Given the description of an element on the screen output the (x, y) to click on. 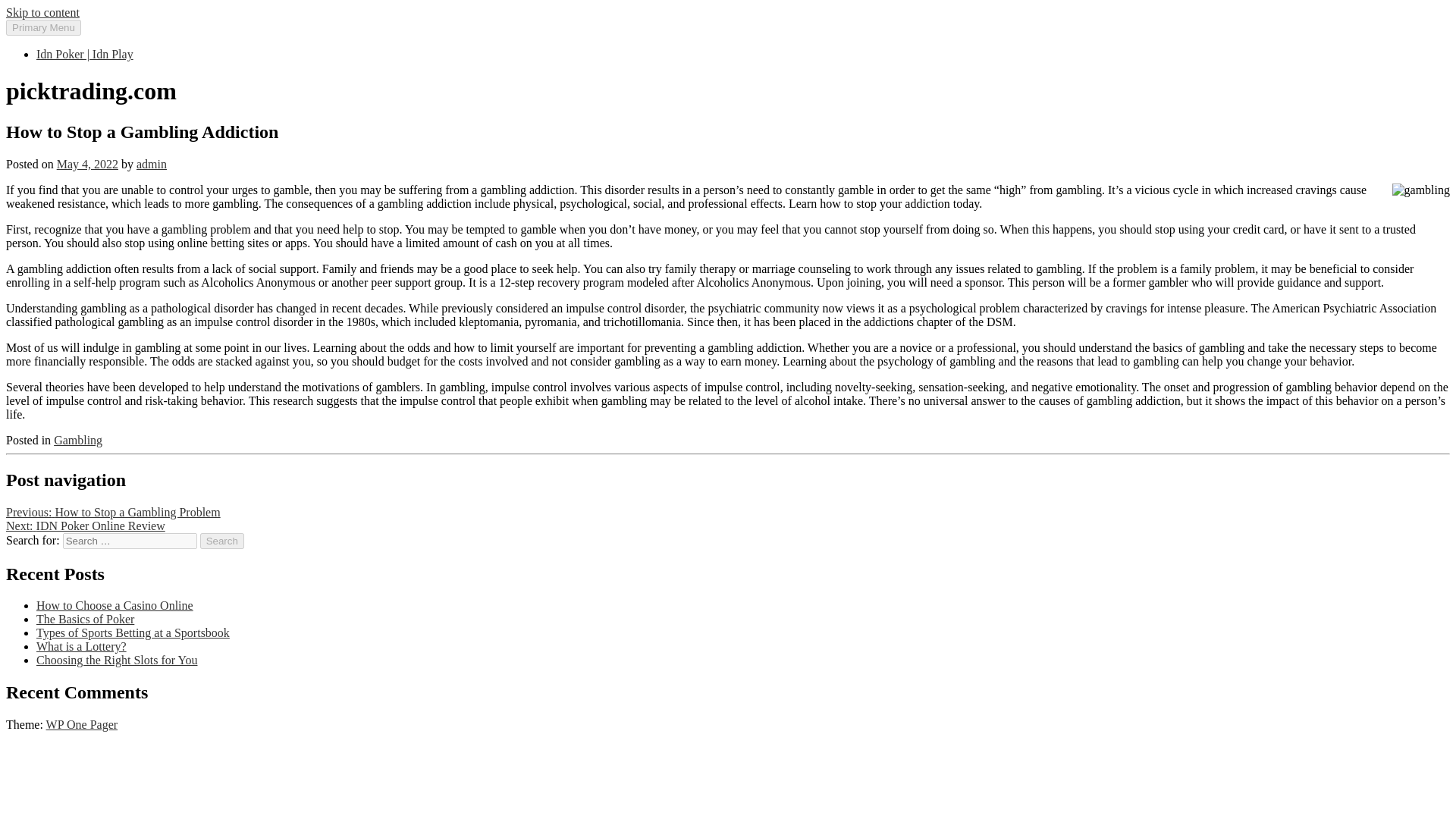
May 4, 2022 (86, 164)
Search (222, 540)
Types of Sports Betting at a Sportsbook (133, 632)
Primary Menu (43, 27)
Gambling (77, 440)
Previous: How to Stop a Gambling Problem (113, 512)
admin (151, 164)
How to Choose a Casino Online (114, 604)
What is a Lottery? (81, 645)
Choosing the Right Slots for You (116, 659)
Next: IDN Poker Online Review (85, 525)
The Basics of Poker (84, 618)
Search (222, 540)
Skip to content (42, 11)
Search (222, 540)
